Given the description of an element on the screen output the (x, y) to click on. 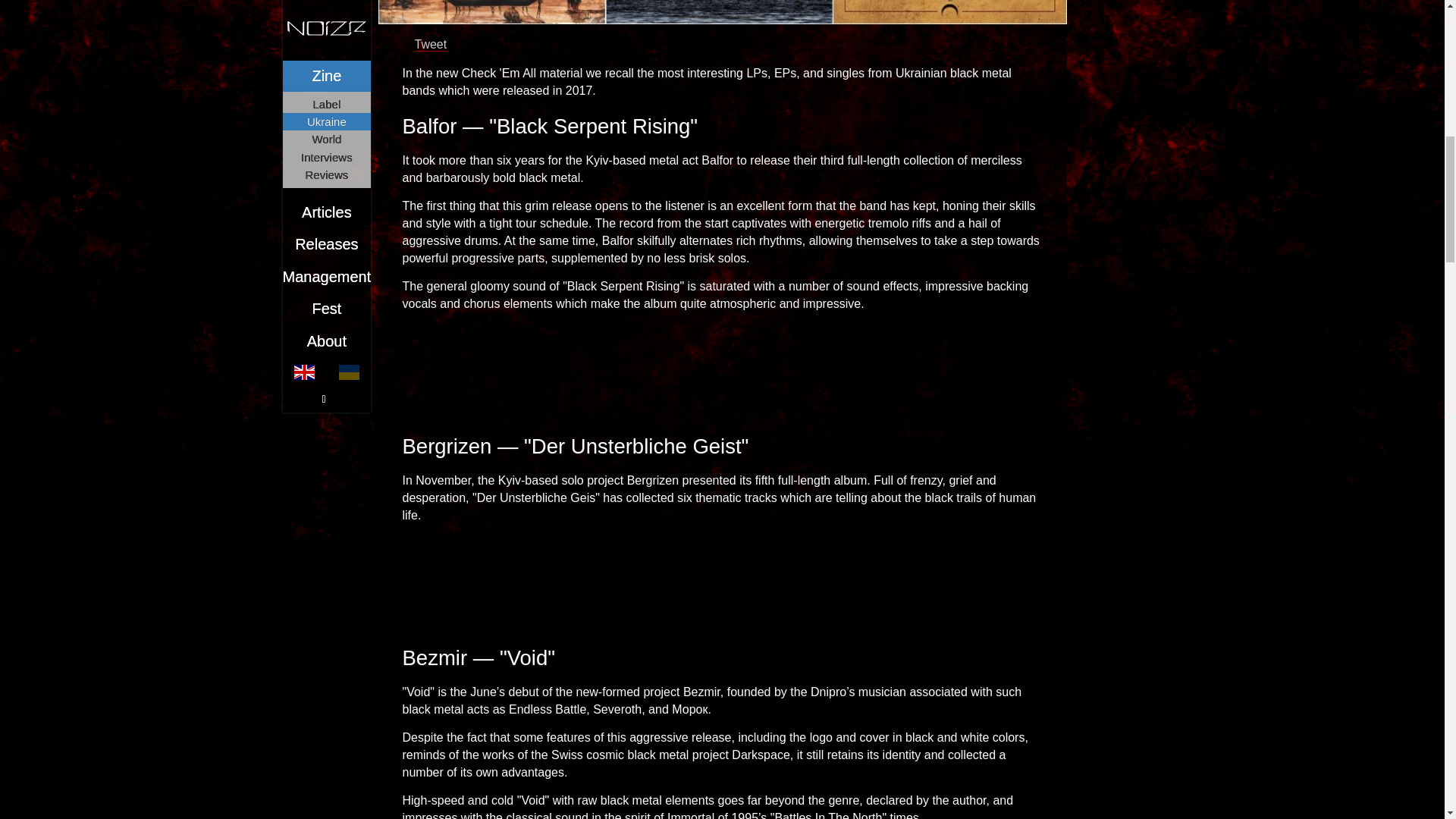
Check 'Em All: 16 Ukrainian black metal releases (721, 12)
Tweet (429, 44)
